Given the description of an element on the screen output the (x, y) to click on. 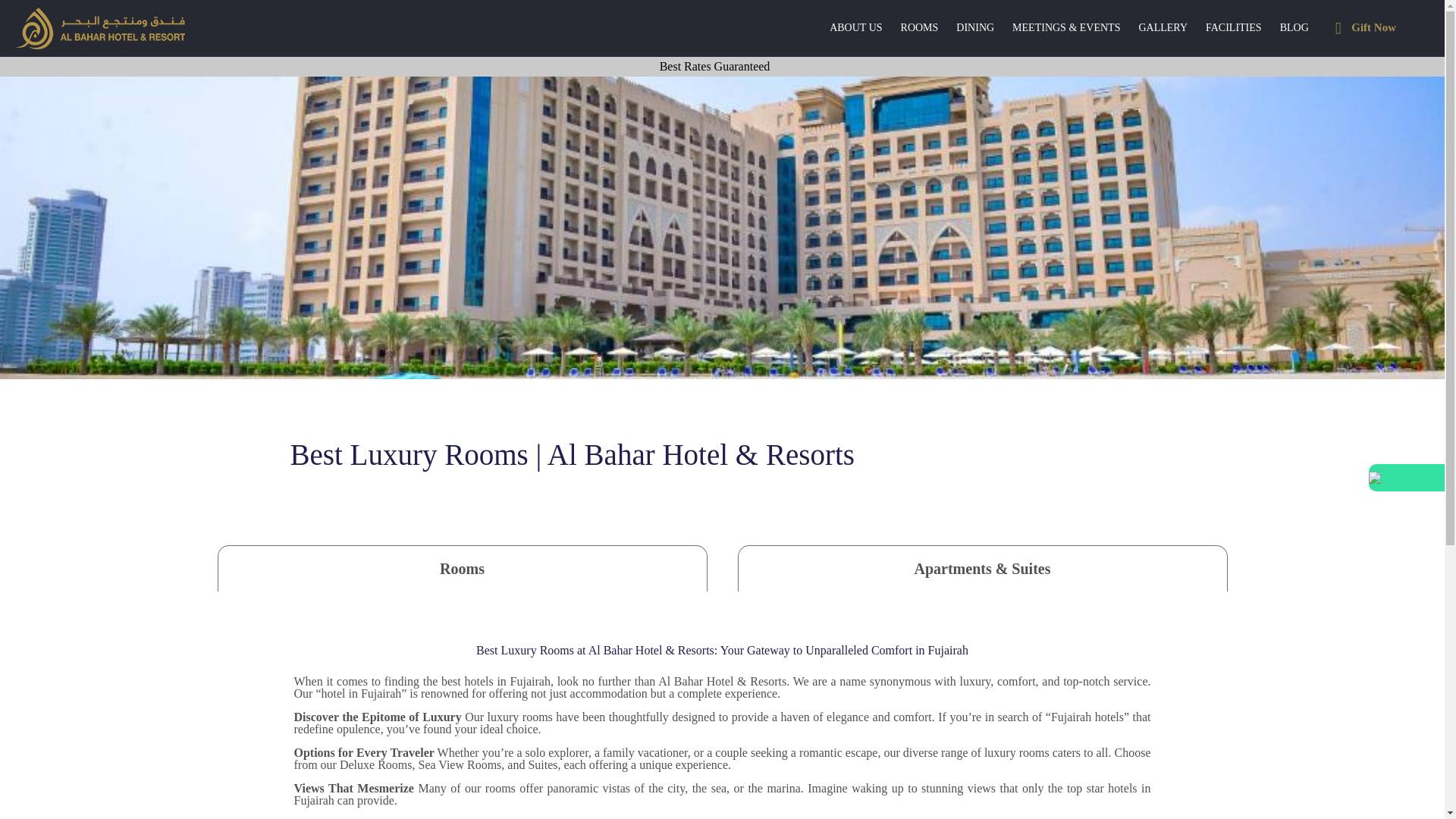
DINING (975, 27)
BLOG (1294, 27)
FACILITIES (1233, 27)
ROOMS (919, 27)
GALLERY (1162, 27)
ABOUT US (856, 27)
